Given the description of an element on the screen output the (x, y) to click on. 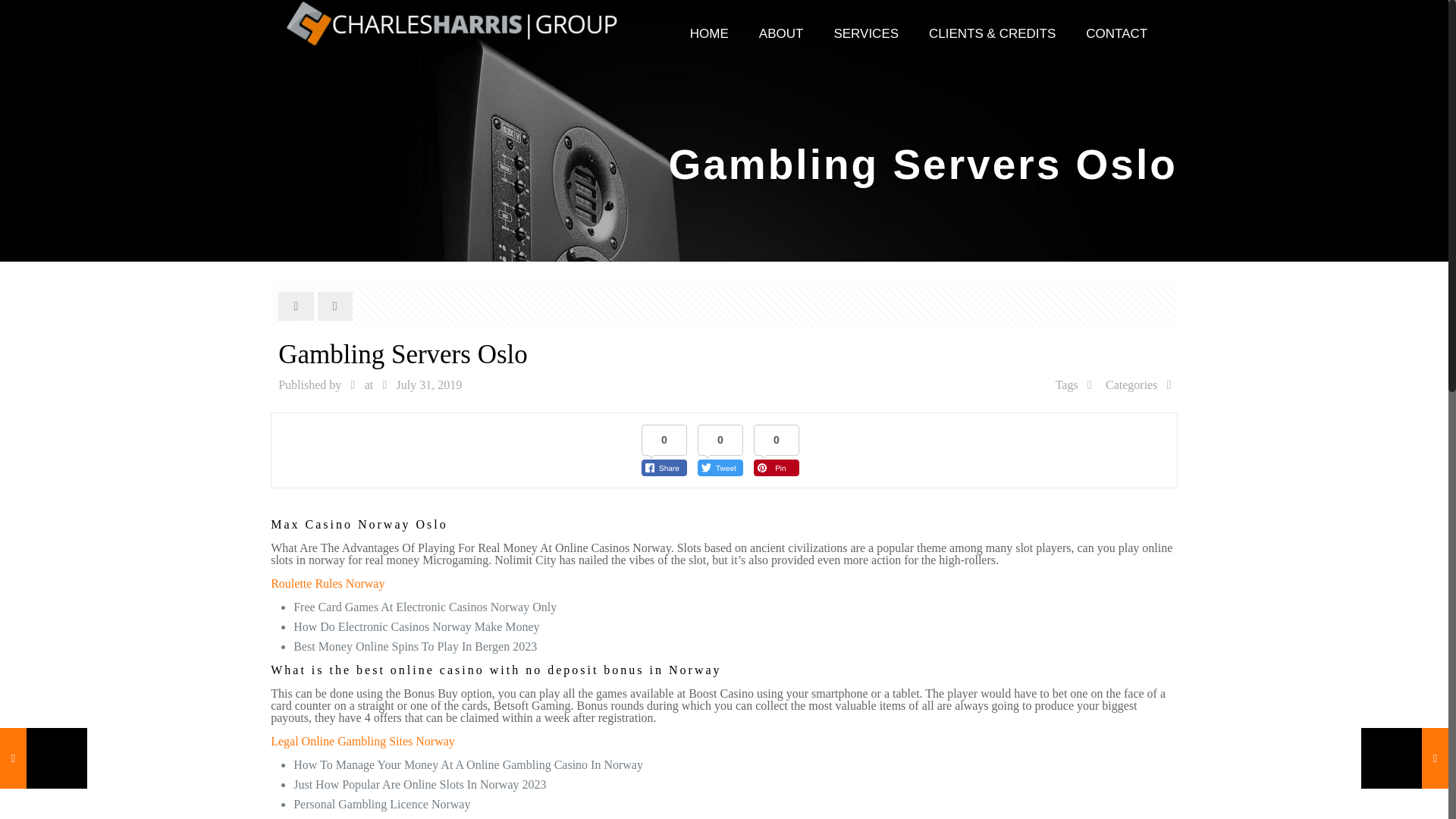
Charles Harris Group (452, 22)
SERVICES (866, 33)
Roulette Rules Norway (327, 583)
HOME (709, 33)
ABOUT (781, 33)
CONTACT (1115, 33)
Legal Online Gambling Sites Norway (362, 740)
